Given the description of an element on the screen output the (x, y) to click on. 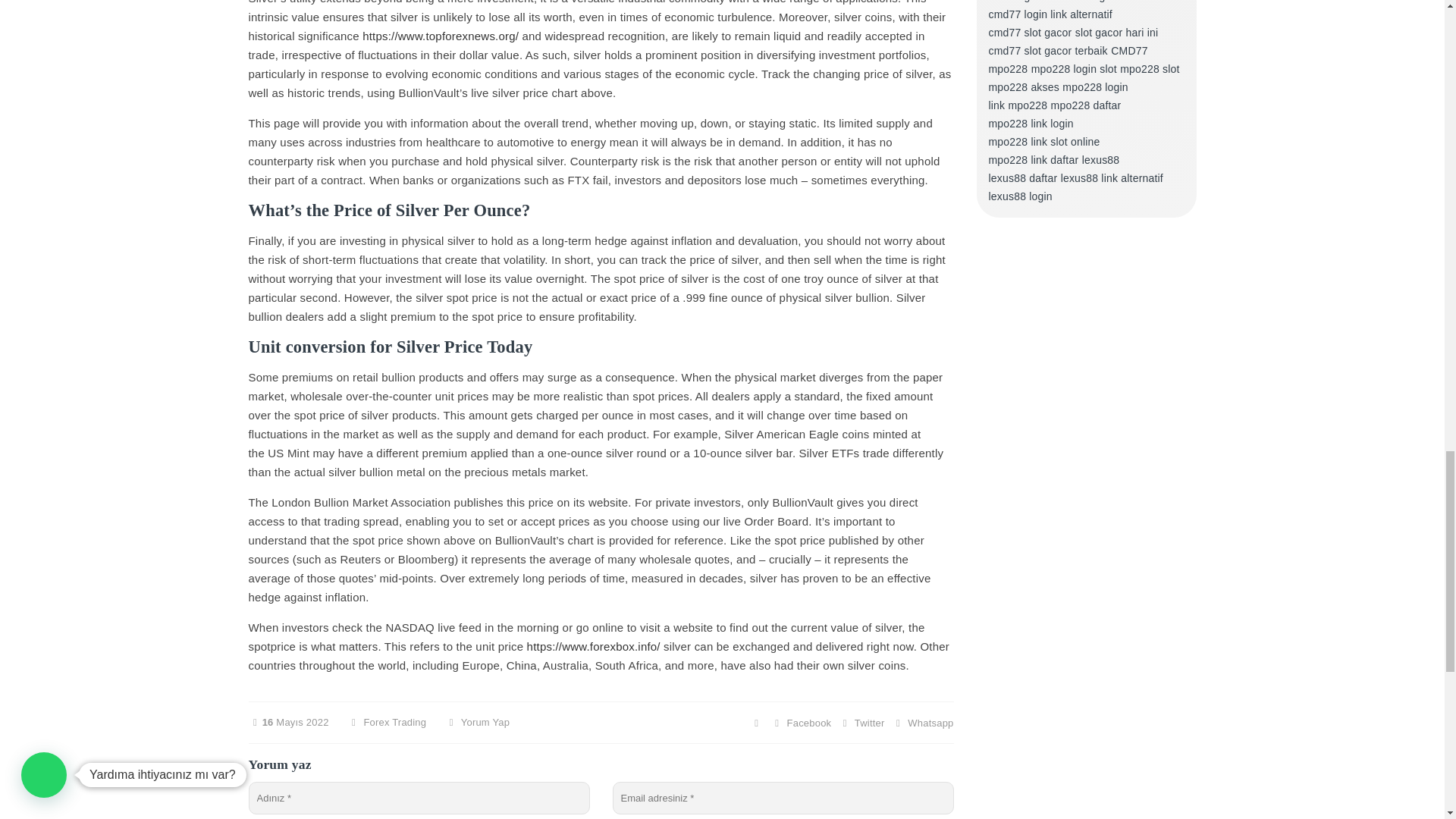
Yorum Yap (476, 721)
Forex Trading (394, 721)
